Given the description of an element on the screen output the (x, y) to click on. 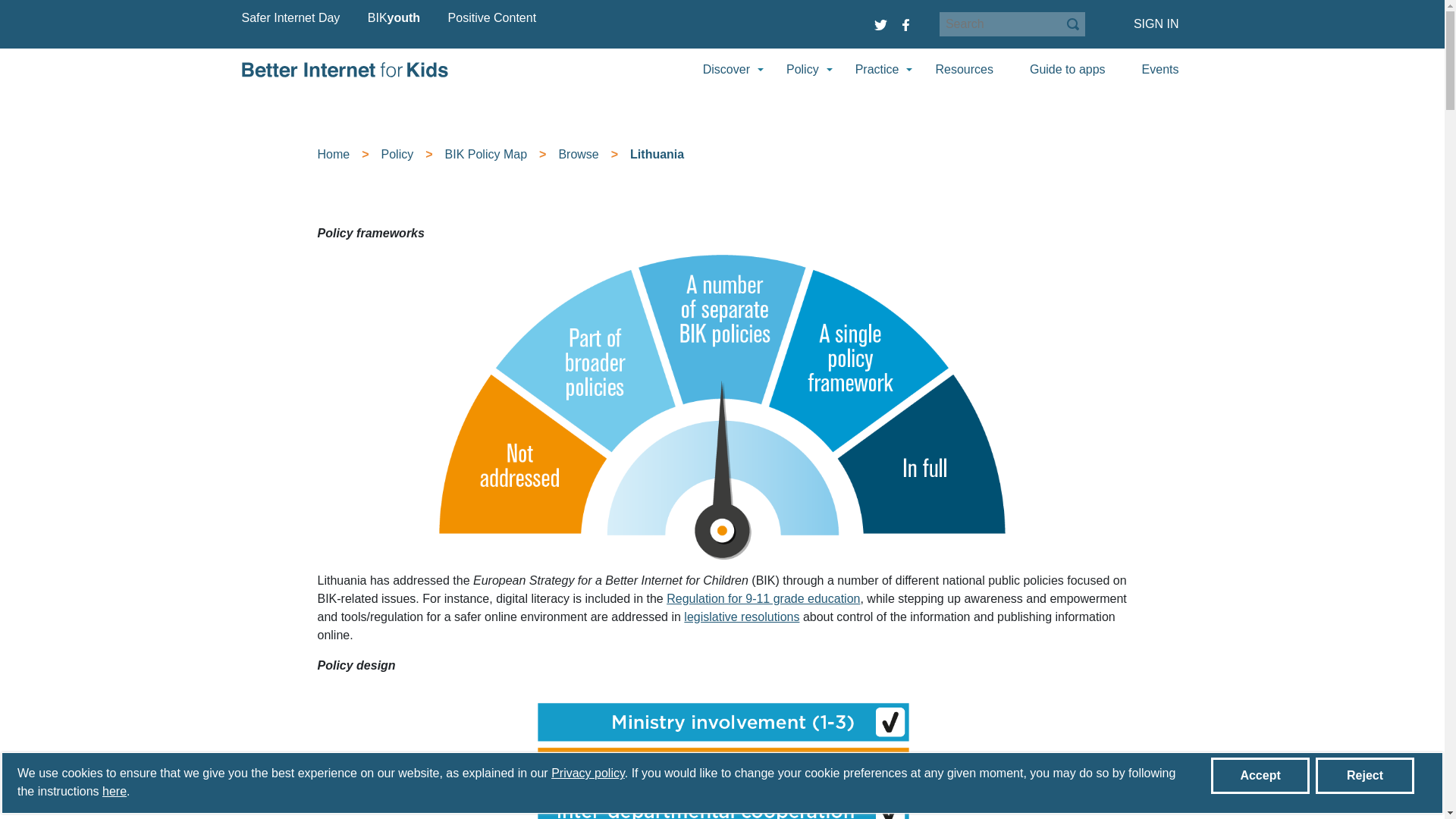
Accept (1259, 775)
Resources (963, 69)
Browse (577, 154)
Home (333, 154)
Practice (877, 69)
SIGN IN (1156, 23)
Learn more about cookies (113, 790)
Go to homepage (344, 69)
Guide to apps (1067, 69)
Discover (726, 69)
here (113, 790)
Safer Internet Day (290, 17)
Positive Content (492, 17)
Privacy policy (587, 772)
Events (1160, 69)
